Given the description of an element on the screen output the (x, y) to click on. 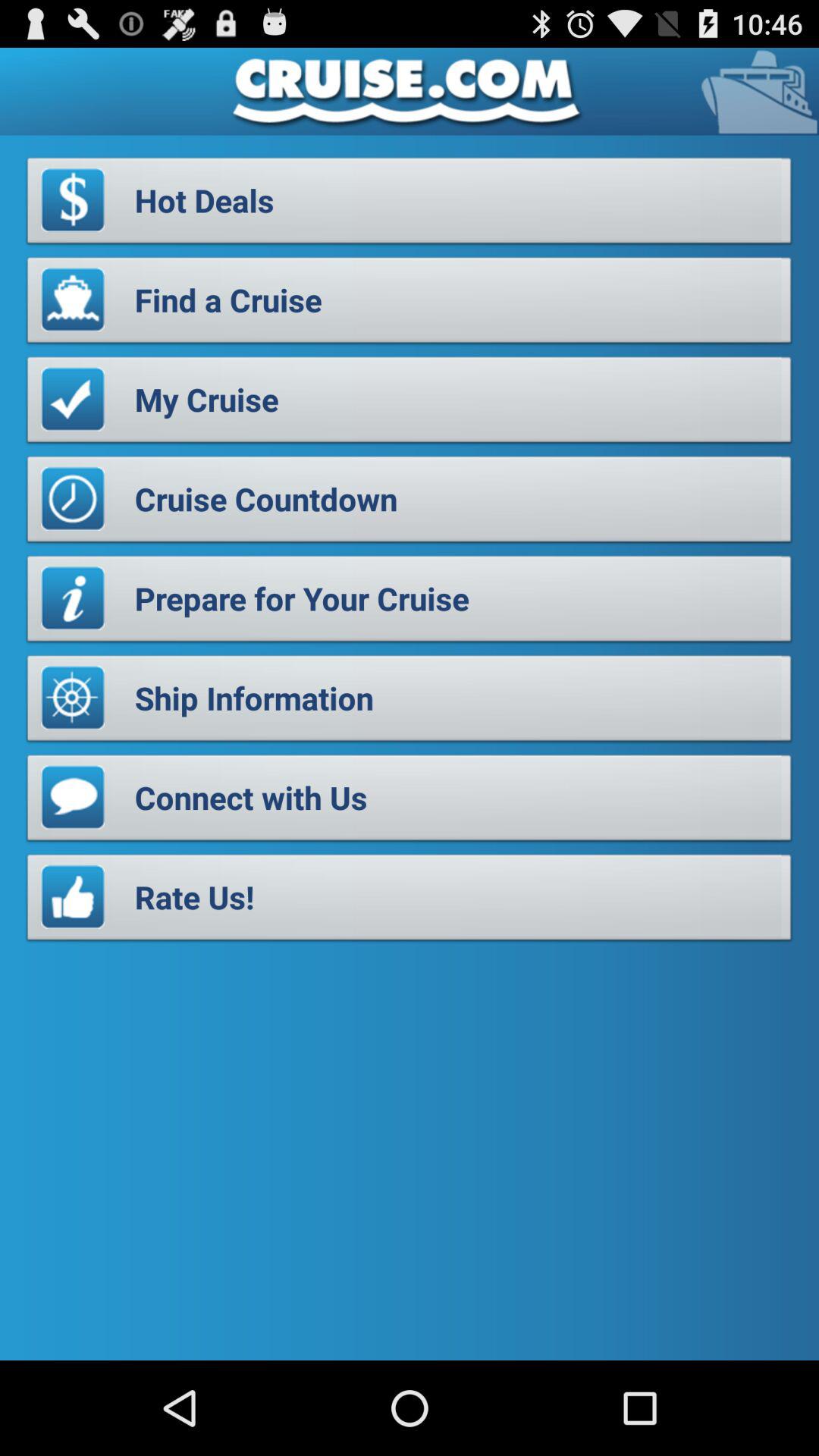
open hot deals icon (409, 204)
